Given the description of an element on the screen output the (x, y) to click on. 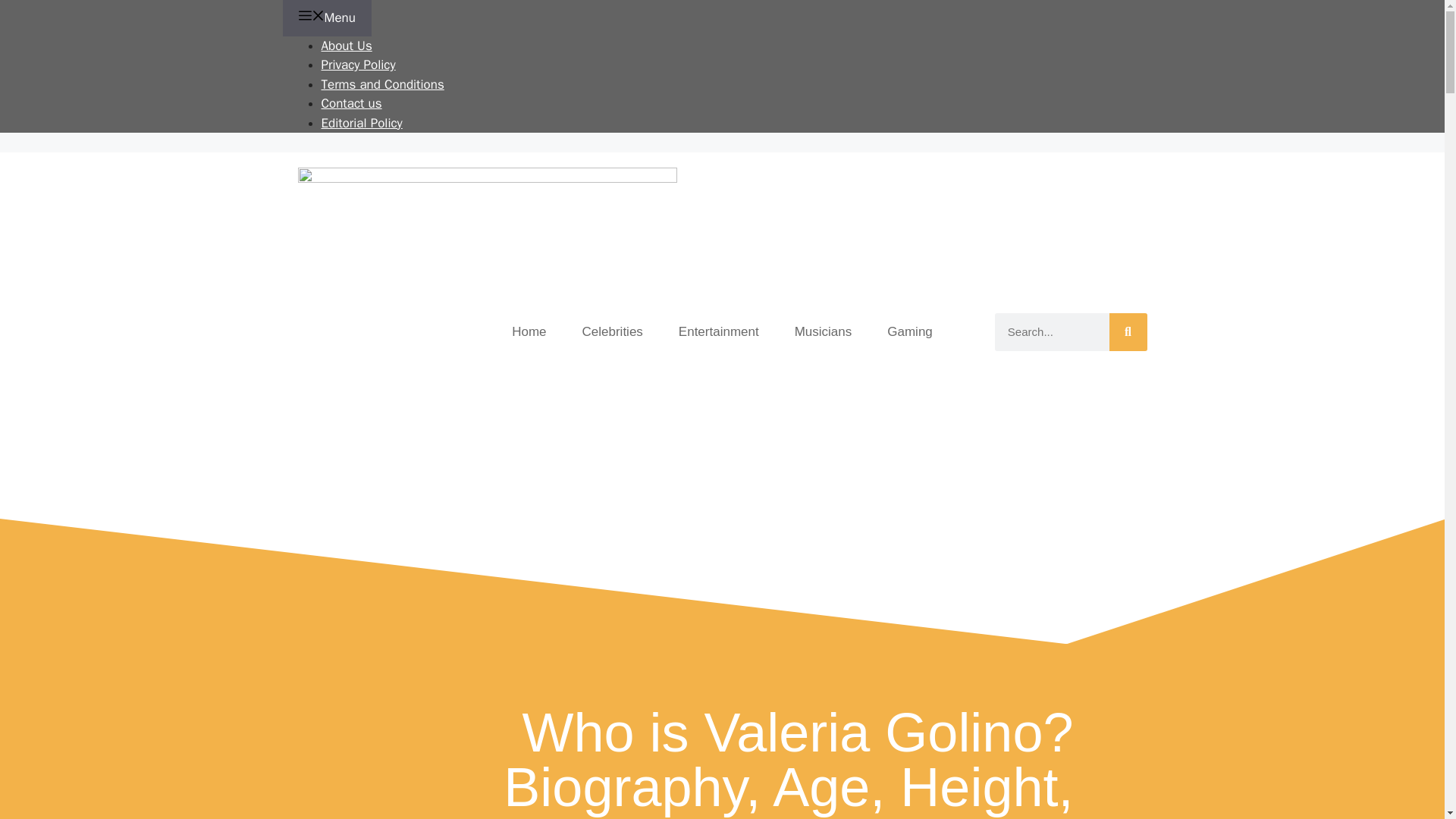
Celebrities (612, 330)
About Us (346, 45)
Contact us (351, 103)
Menu (326, 18)
Terms and Conditions (382, 83)
Entertainment (718, 330)
Editorial Policy (362, 123)
Home (528, 330)
Musicians (822, 330)
Privacy Policy (358, 64)
